Given the description of an element on the screen output the (x, y) to click on. 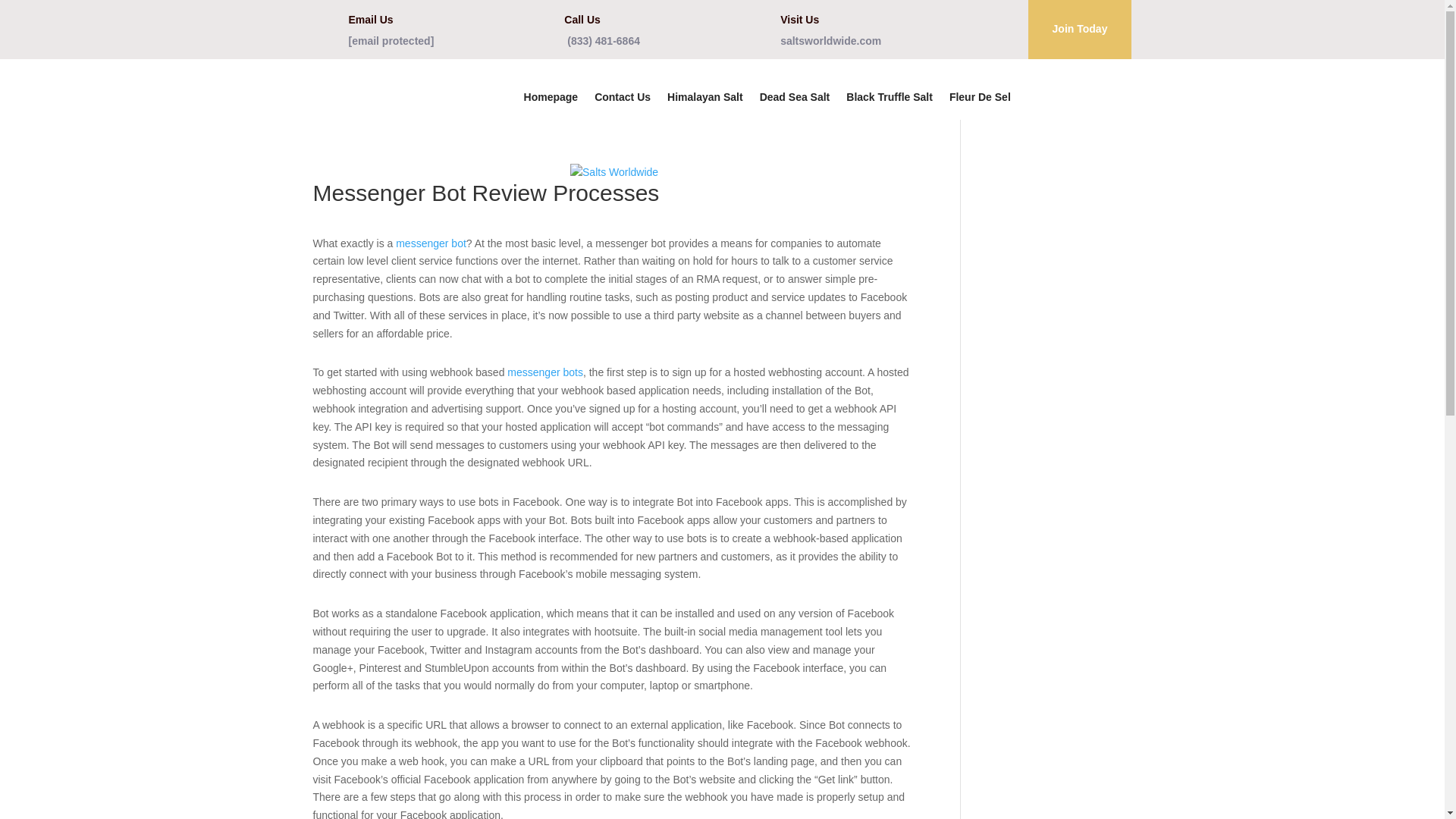
saltsworldwide.com (830, 40)
messenger bots (544, 372)
Dead Sea Salt (794, 99)
Homepage (551, 99)
Contact Us (622, 99)
Himalayan Salt (704, 99)
Black Truffle Salt (889, 99)
Fleur De Sel (979, 99)
Join Today (1079, 29)
messenger bot (430, 243)
